Given the description of an element on the screen output the (x, y) to click on. 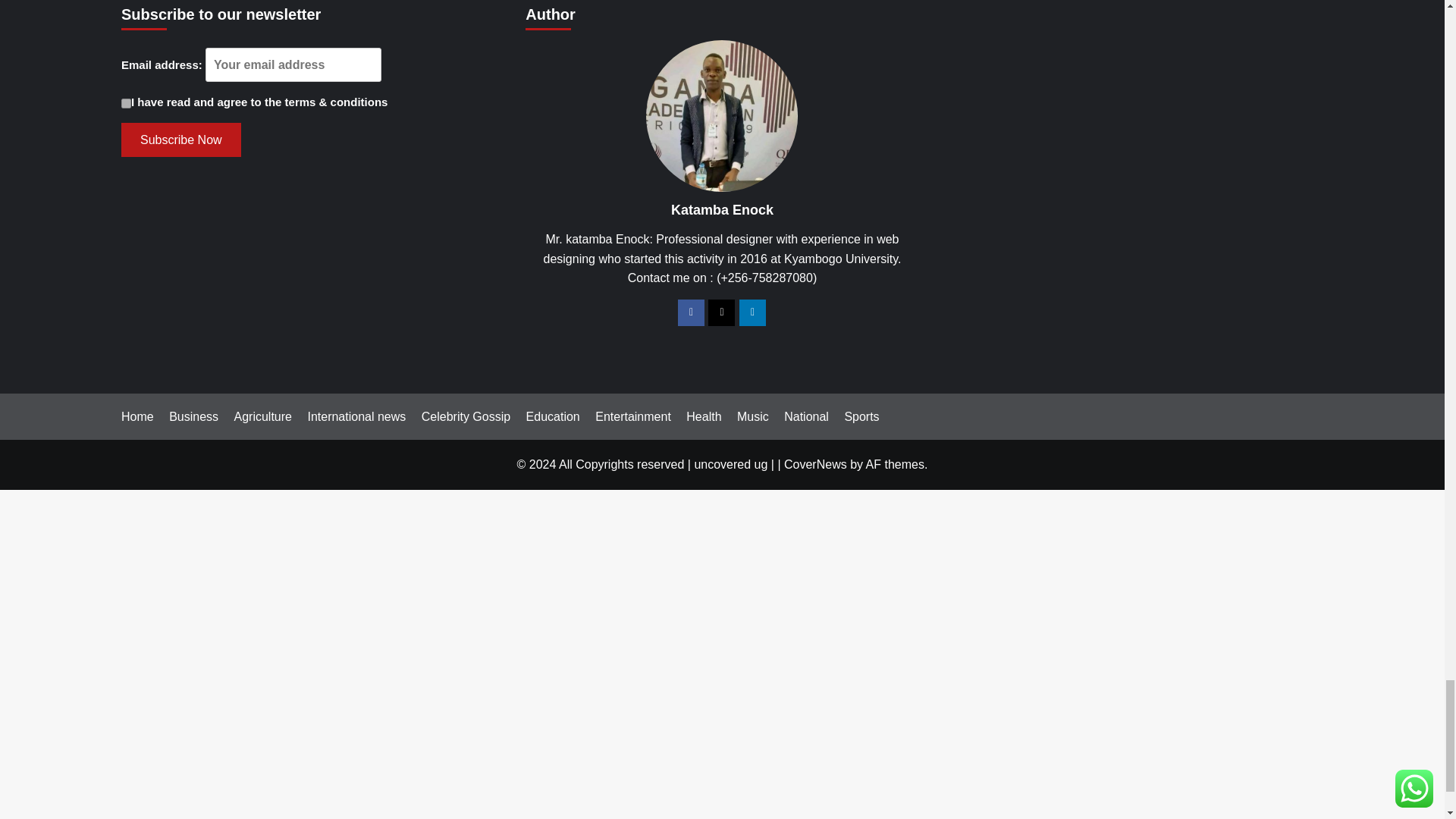
1 (125, 103)
Subscribe Now (180, 139)
